Given the description of an element on the screen output the (x, y) to click on. 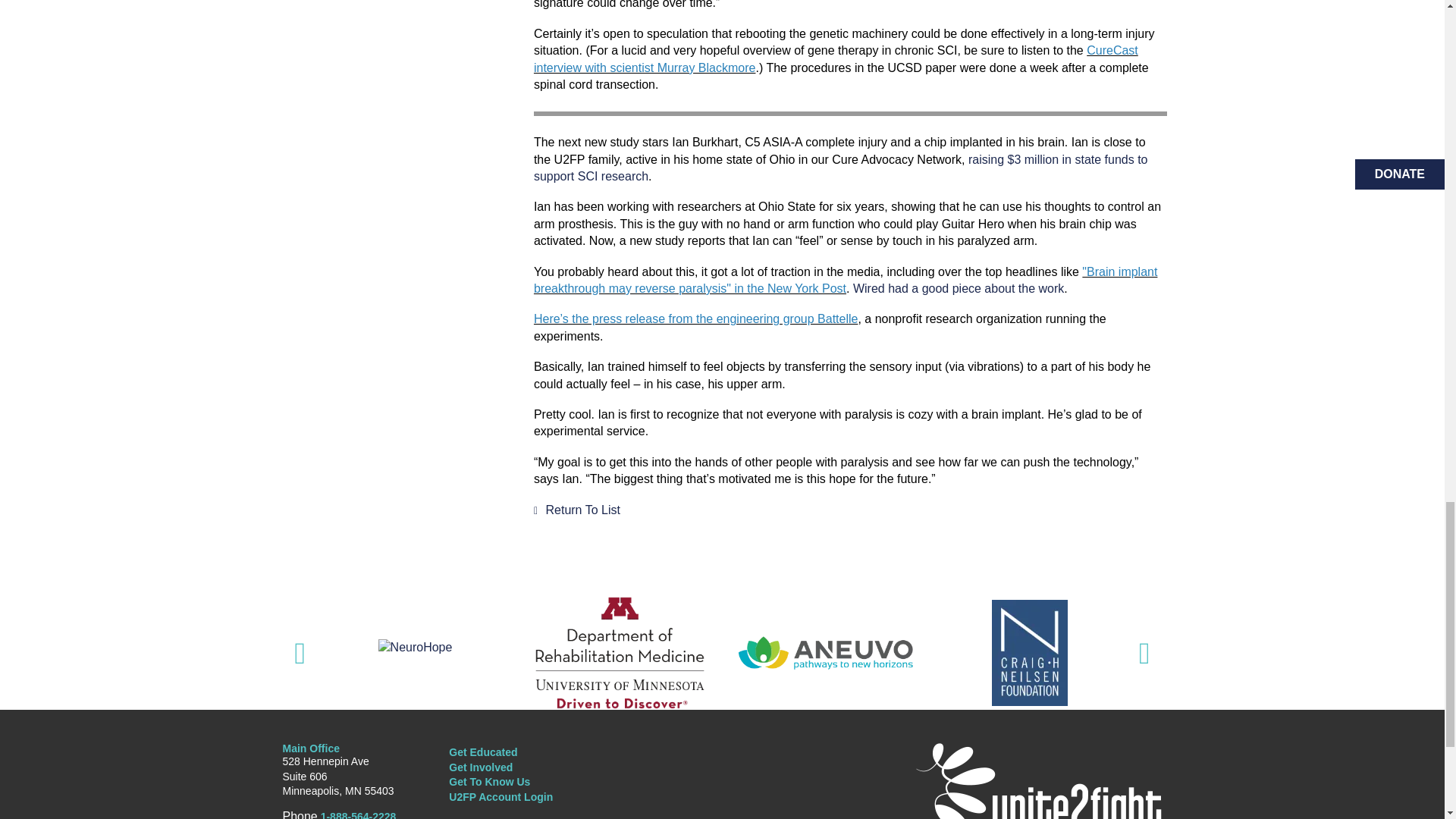
logo (1034, 780)
